Given the description of an element on the screen output the (x, y) to click on. 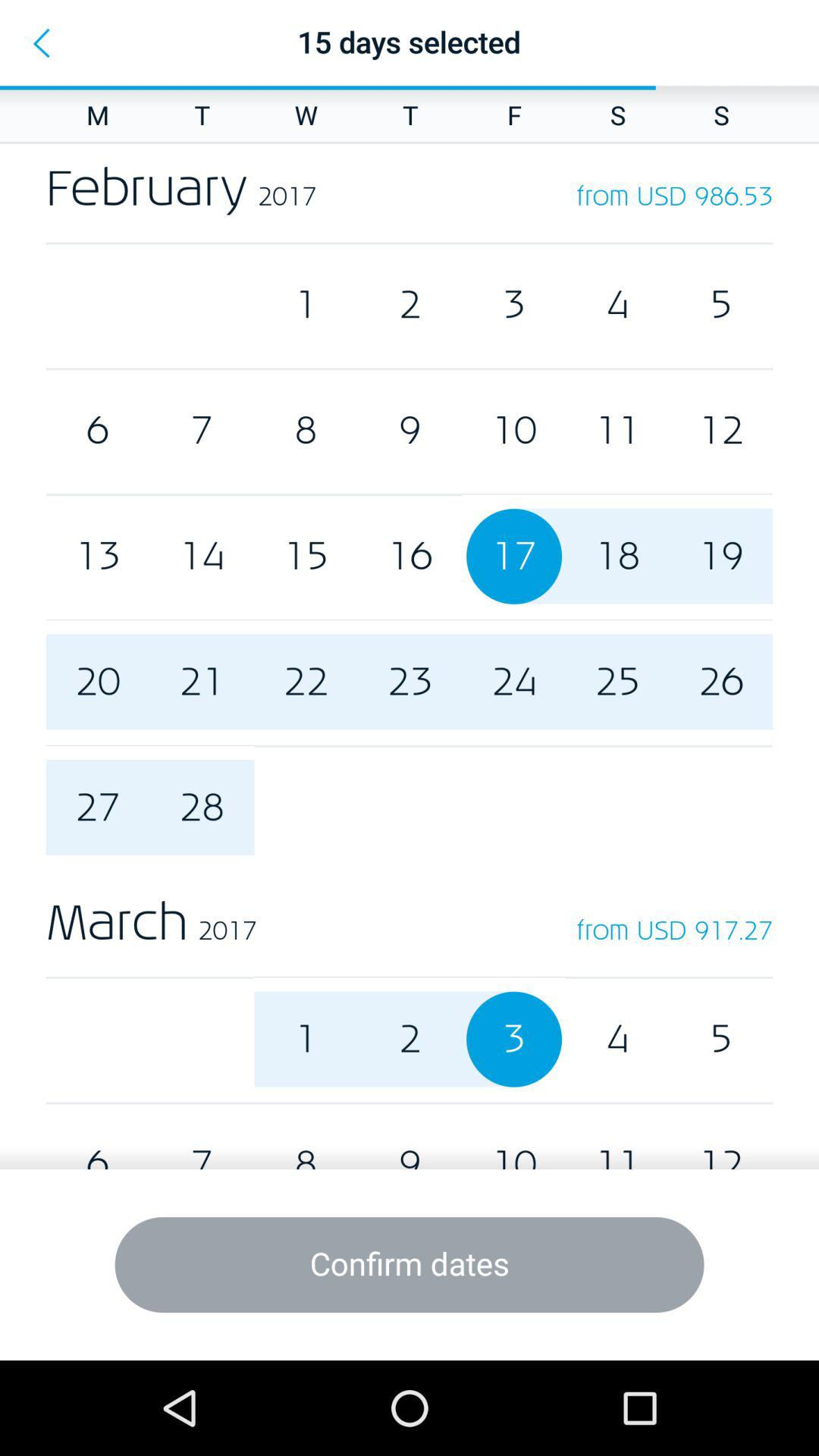
choose the icon below the 6 item (409, 1264)
